Given the description of an element on the screen output the (x, y) to click on. 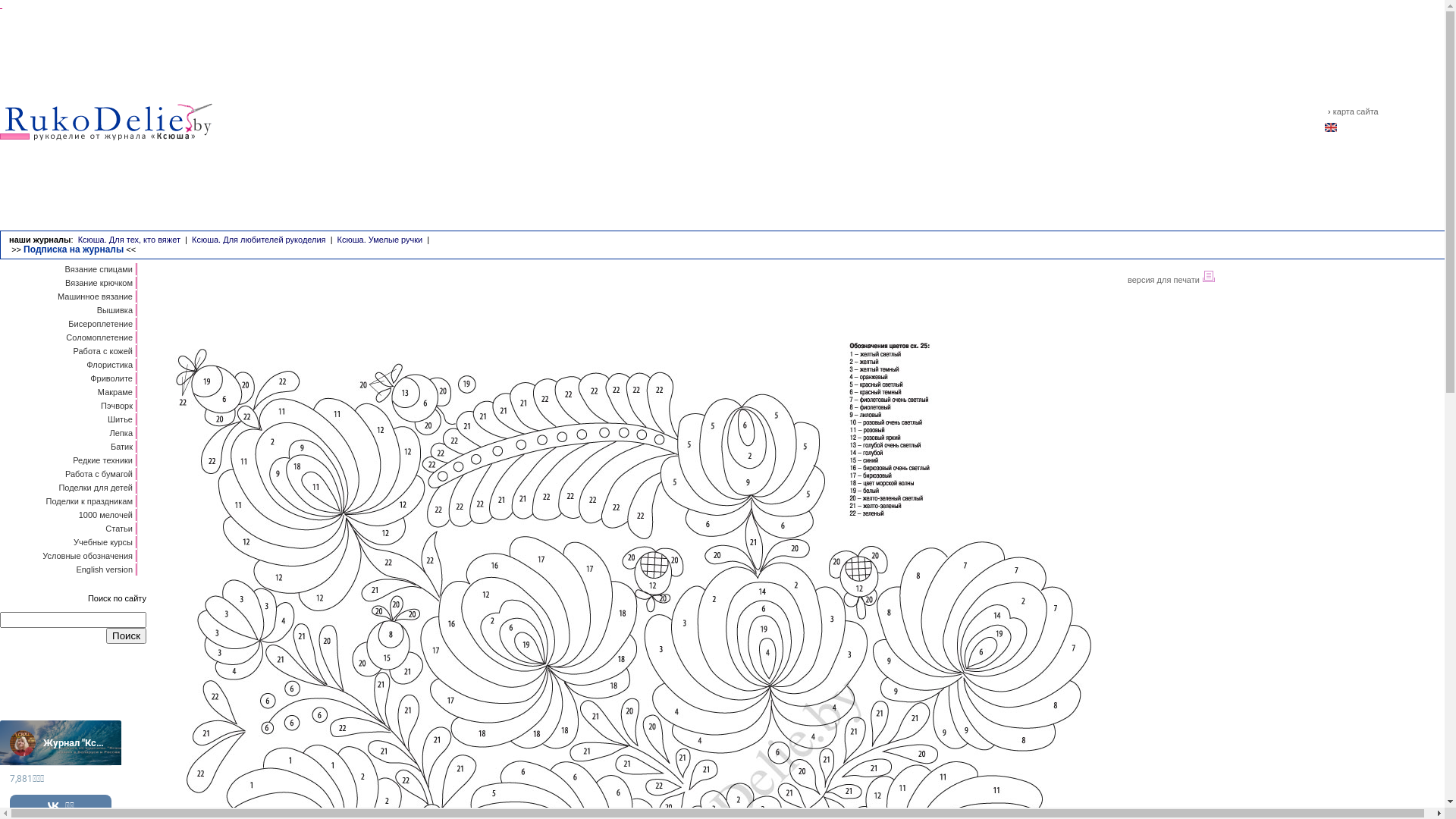
english Element type: hover (1330, 132)
  Element type: text (1, 4)
Advertisement Element type: hover (1330, 388)
Advertisement Element type: hover (770, 124)
